Given the description of an element on the screen output the (x, y) to click on. 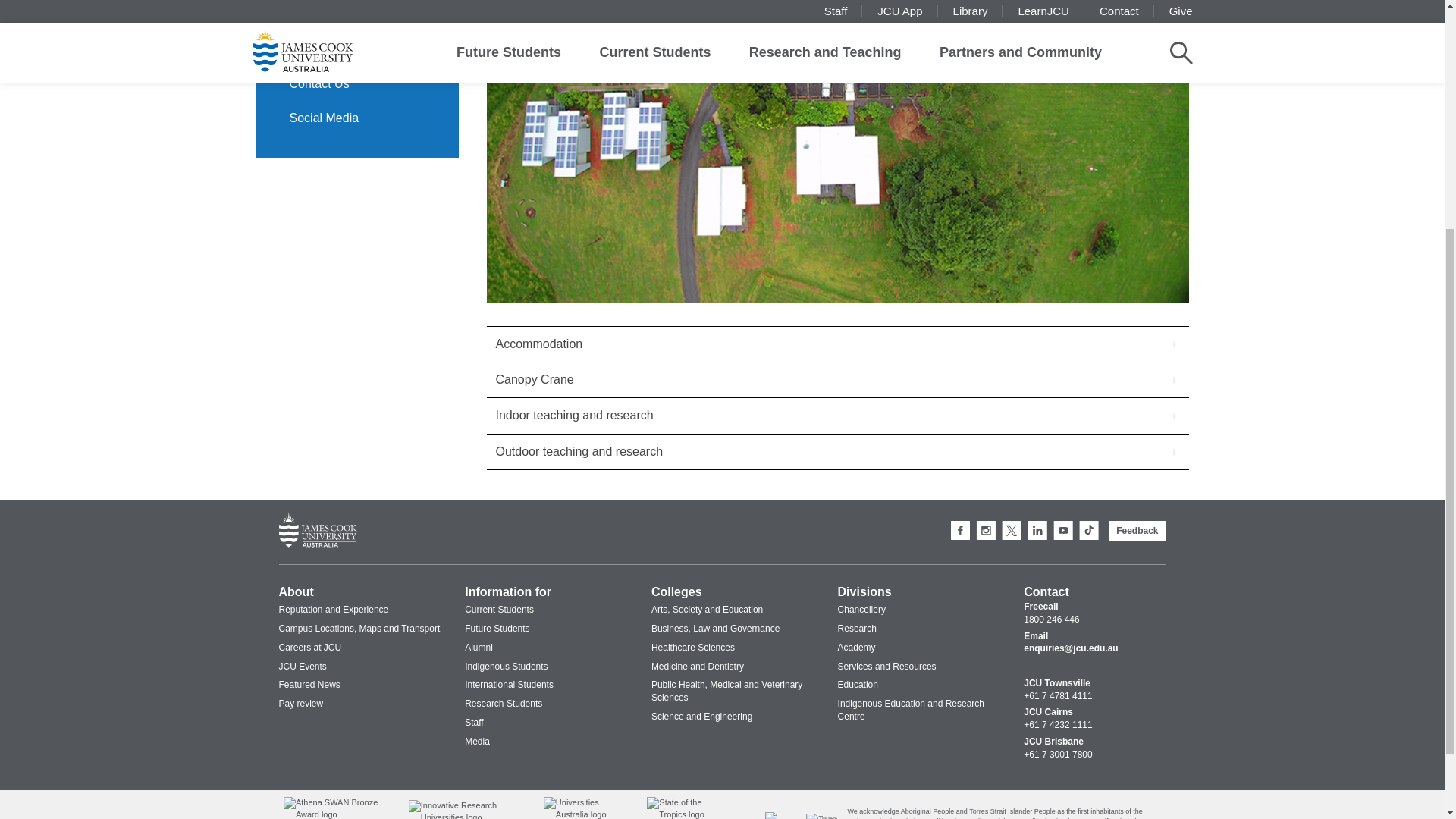
Go to JCU Twitter (1011, 530)
Go to JCU home page (317, 530)
Go to JCU Facebook (959, 530)
Go to JCU Instagram (985, 530)
